Given the description of an element on the screen output the (x, y) to click on. 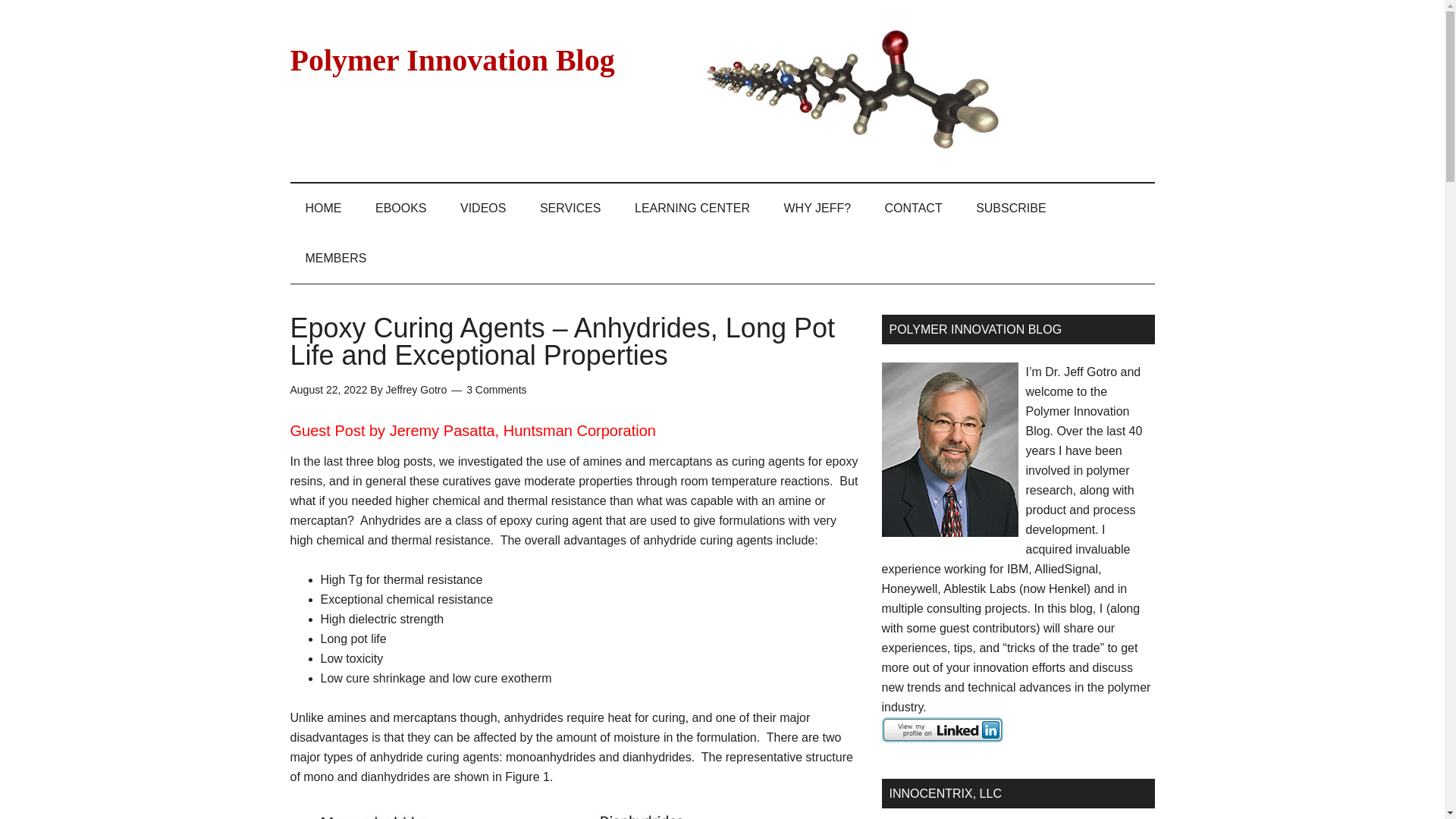
3 Comments (495, 389)
SERVICES (569, 208)
LEARNING CENTER (692, 208)
CONTACT (913, 208)
EBOOKS (400, 208)
MEMBERS (335, 258)
HOME (322, 208)
VIDEOS (483, 208)
WHY JEFF? (817, 208)
SUBSCRIBE (1010, 208)
